Given the description of an element on the screen output the (x, y) to click on. 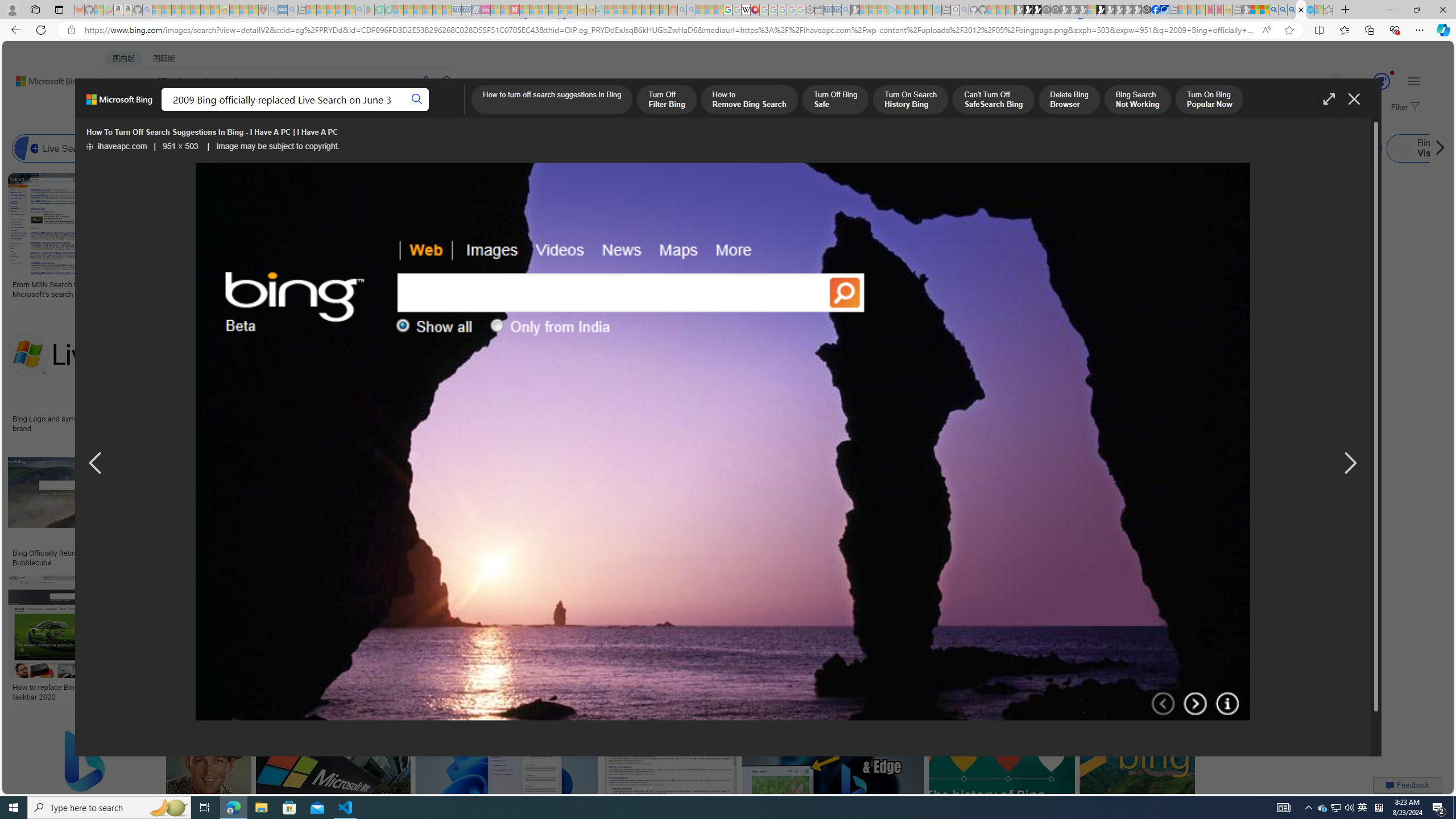
2009 Bing officially replaced Live Search on June 3 - Search (1283, 9)
AutomationID: rh_meter (1381, 80)
Bing Logo and symbol, meaning, history, PNG, brand (97, 423)
Latest Politics News & Archive | Newsweek.com - Sleeping (514, 9)
